Given the description of an element on the screen output the (x, y) to click on. 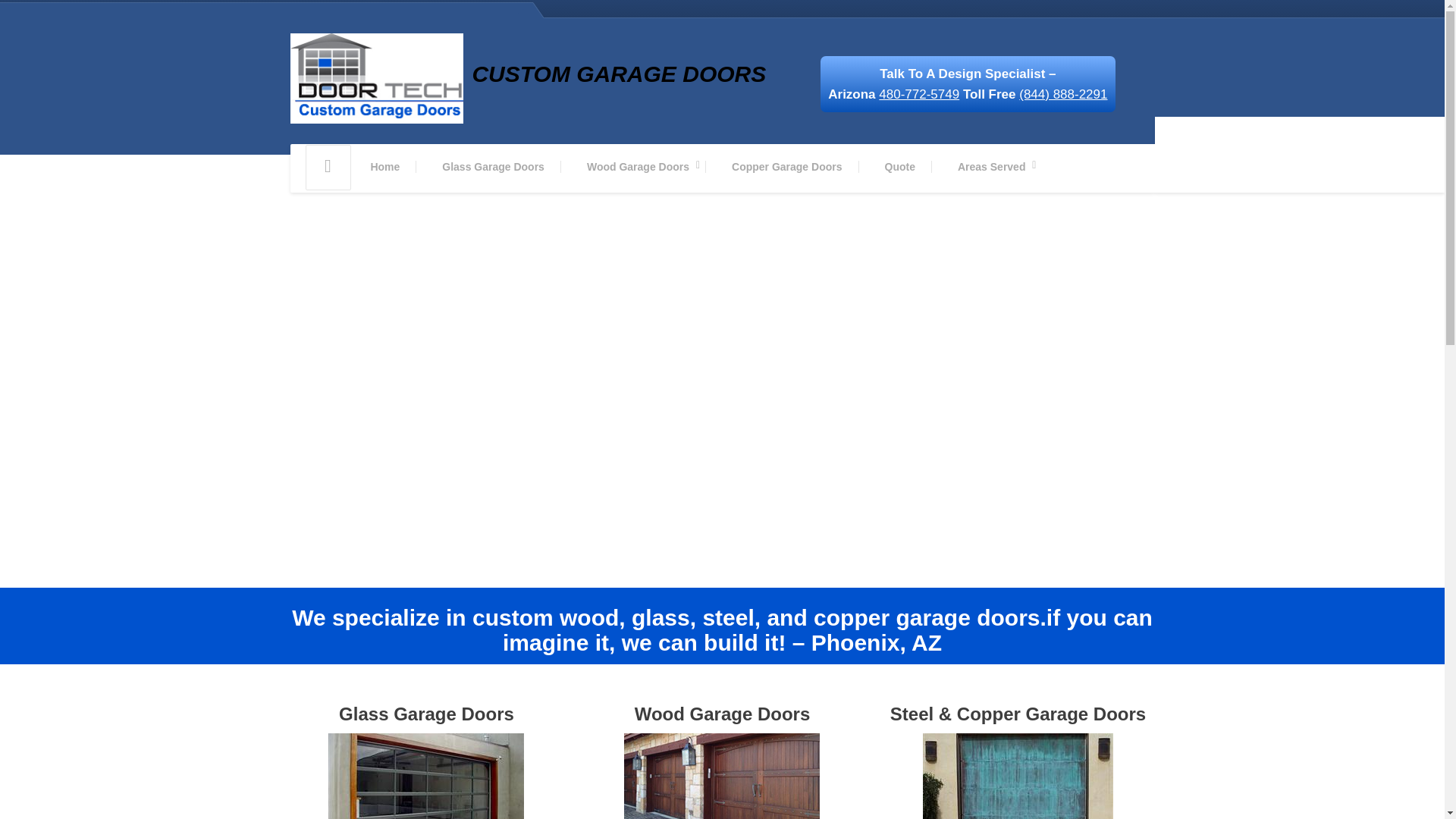
Glass Garage Doors (492, 166)
Home (384, 166)
Areas Served (991, 166)
Copper Garage Doors (786, 166)
Quote (899, 166)
Wood Garage Doors (638, 166)
